Given the description of an element on the screen output the (x, y) to click on. 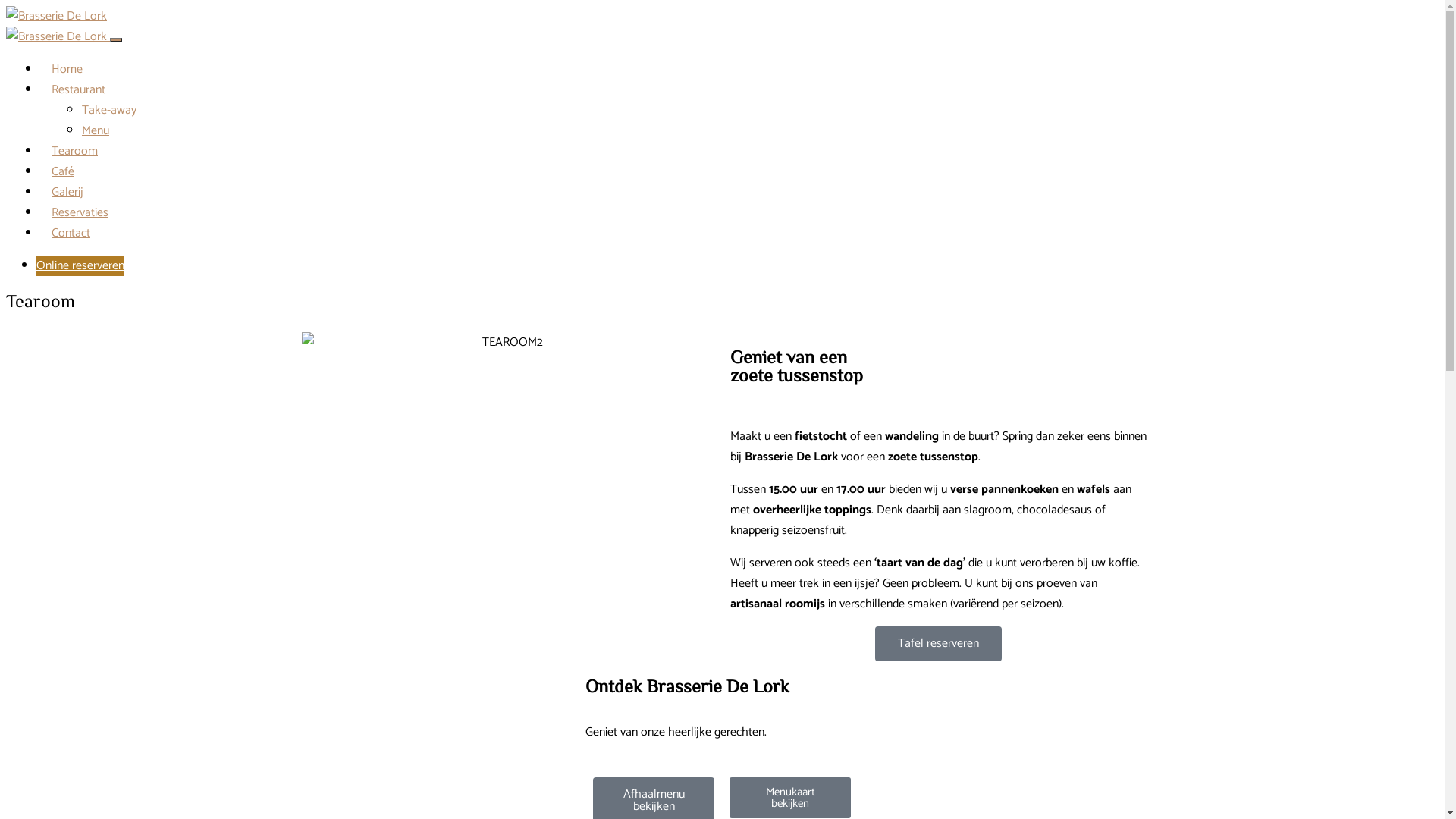
Home Element type: text (66, 69)
Tafel reserveren Element type: text (938, 643)
Tearoom Element type: text (74, 151)
Galerij Element type: text (67, 192)
Menu Element type: text (95, 130)
Restaurant Element type: text (78, 89)
Online reserveren Element type: text (80, 265)
Reservaties Element type: text (79, 212)
Contact Element type: text (70, 232)
Take-away Element type: text (108, 110)
Menukaart bekijken Element type: text (789, 797)
